Given the description of an element on the screen output the (x, y) to click on. 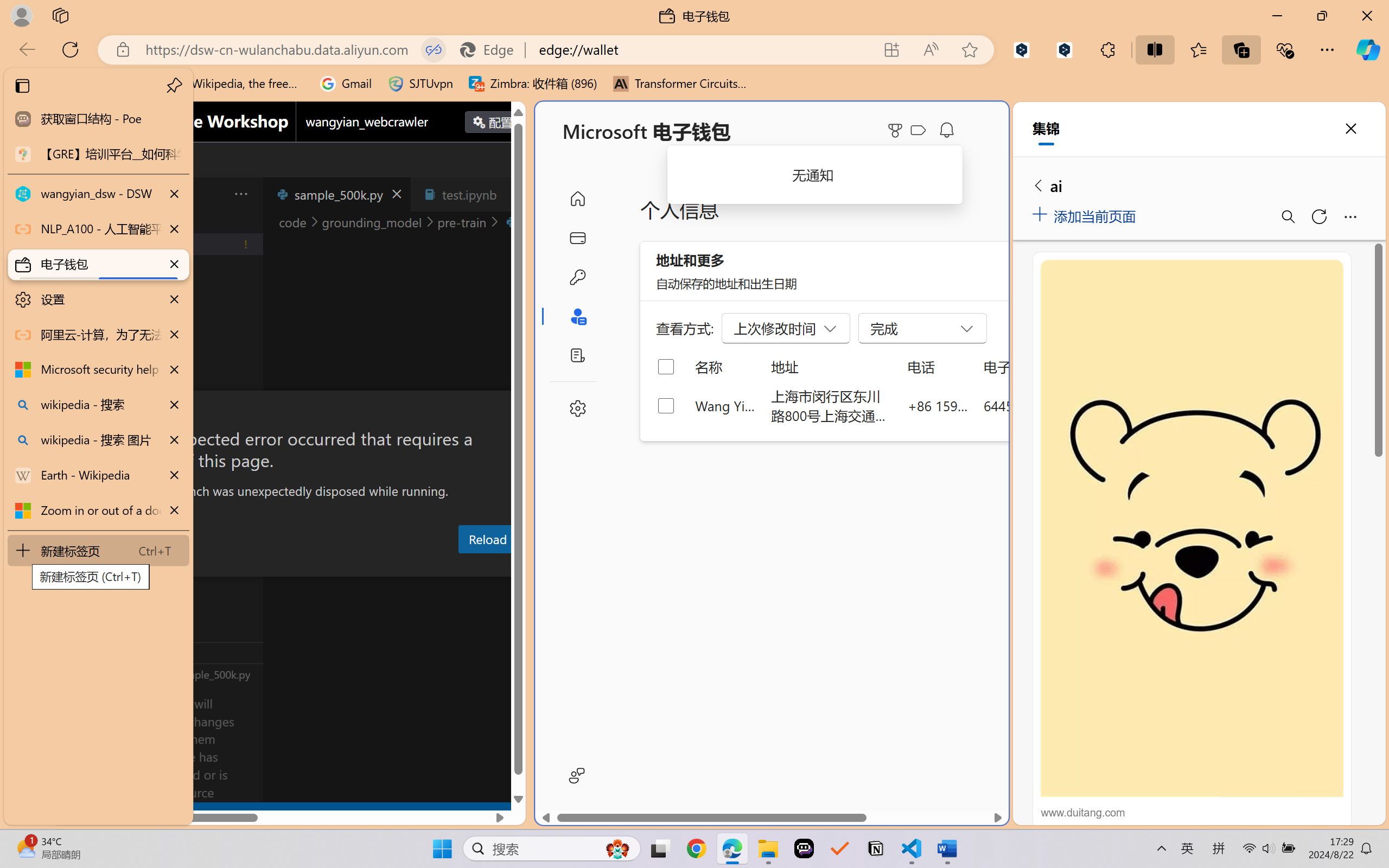
Gmail (345, 83)
wangyian_dsw - DSW (97, 194)
Microsoft security help and learning (97, 369)
No Problems (115, 812)
